Given the description of an element on the screen output the (x, y) to click on. 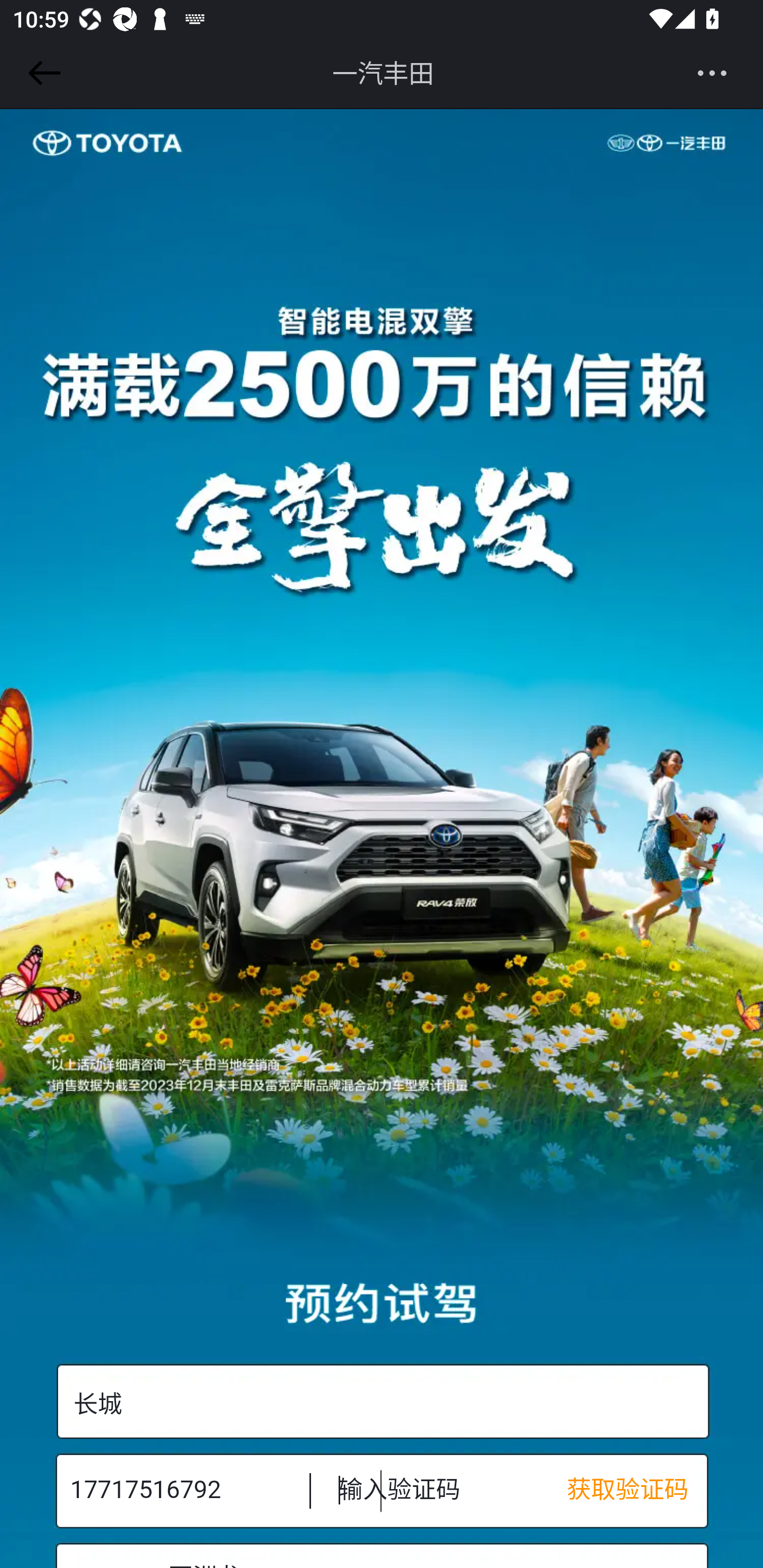
 (41, 72)
长城 (381, 1402)
17717516792 (176, 1490)
获取验证码 (637, 1490)
